Given the description of an element on the screen output the (x, y) to click on. 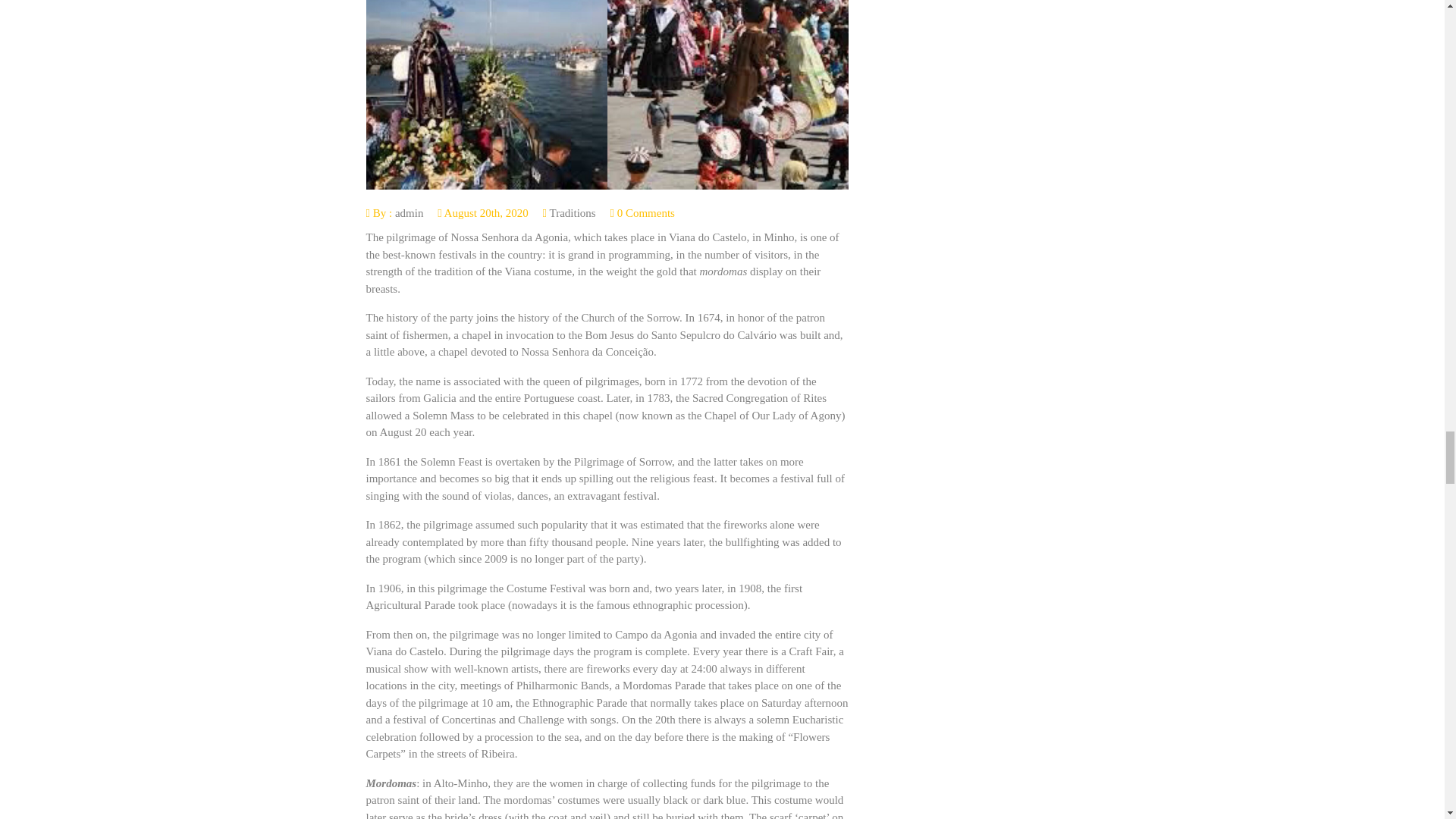
Posts by admin (408, 213)
Traditions (572, 213)
admin (408, 213)
